Given the description of an element on the screen output the (x, y) to click on. 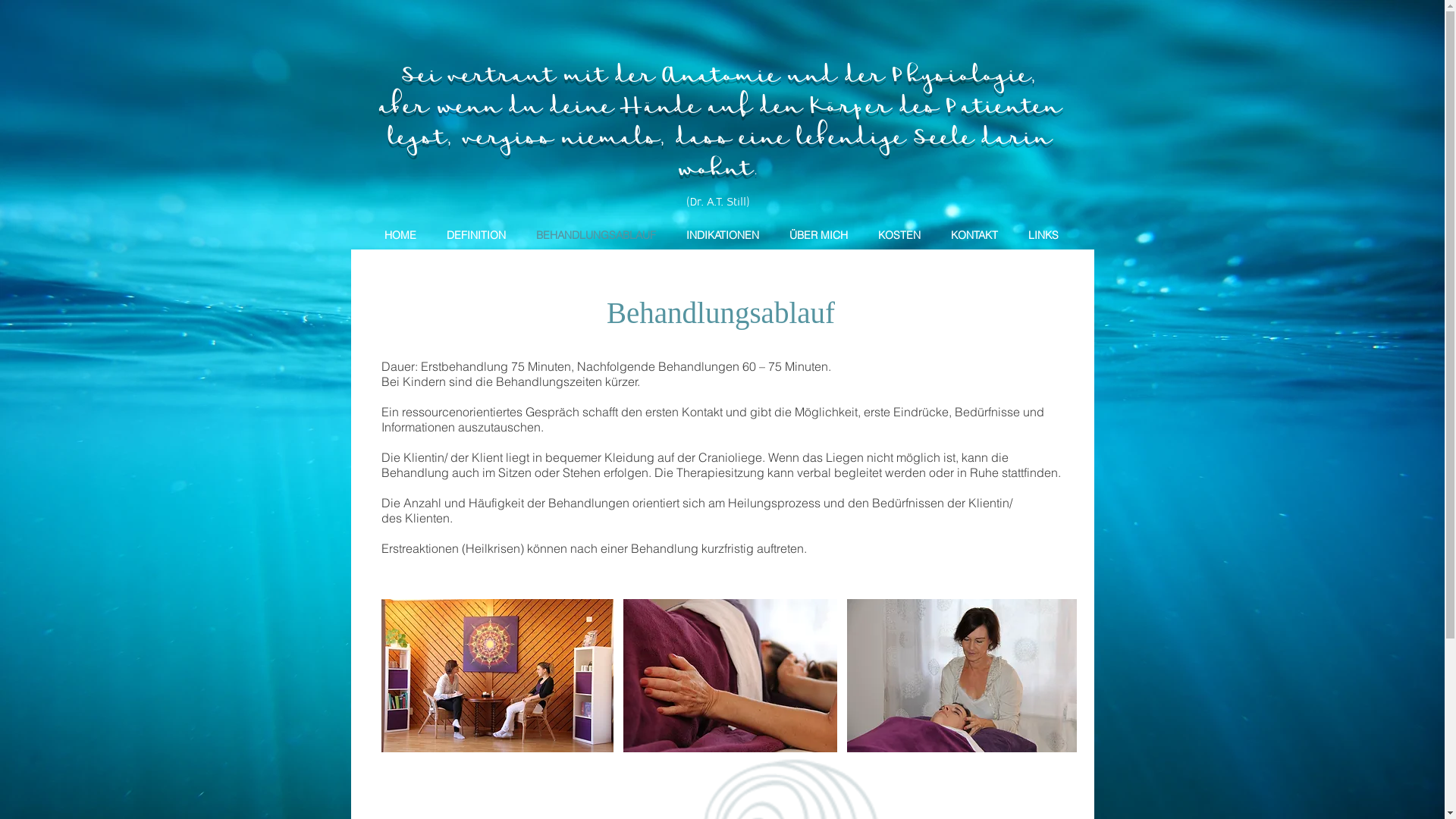
HOME Element type: text (399, 233)
DEFINITION Element type: text (475, 233)
KONTAKT Element type: text (974, 233)
BEHANDLUNGSABLAUF Element type: text (595, 233)
INDIKATIONEN Element type: text (721, 233)
KOSTEN Element type: text (898, 233)
Bea-4.jpg Element type: hover (730, 675)
LINKS Element type: text (1043, 233)
